Given the description of an element on the screen output the (x, y) to click on. 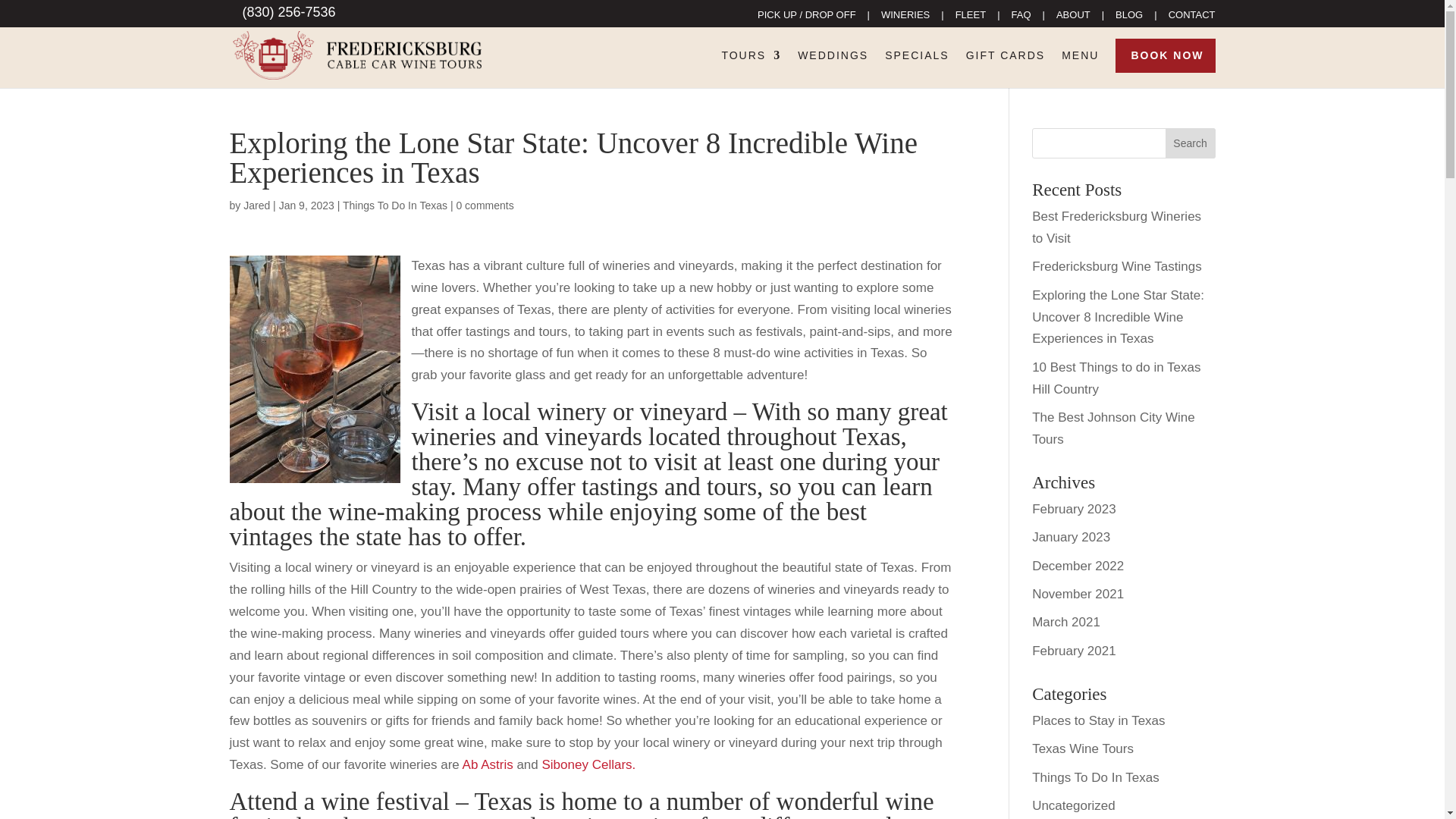
GIFT CARDS (1005, 66)
ABOUT (1073, 18)
CONTACT (1192, 18)
FLEET (970, 18)
MENU (1080, 66)
WEDDINGS (832, 66)
TOURS (750, 66)
Search (1190, 142)
WINERIES (905, 18)
BOOK NOW (1167, 66)
SPECIALS (917, 66)
Posts by Jared (256, 205)
BLOG (1128, 18)
FAQ (1020, 18)
